Given the description of an element on the screen output the (x, y) to click on. 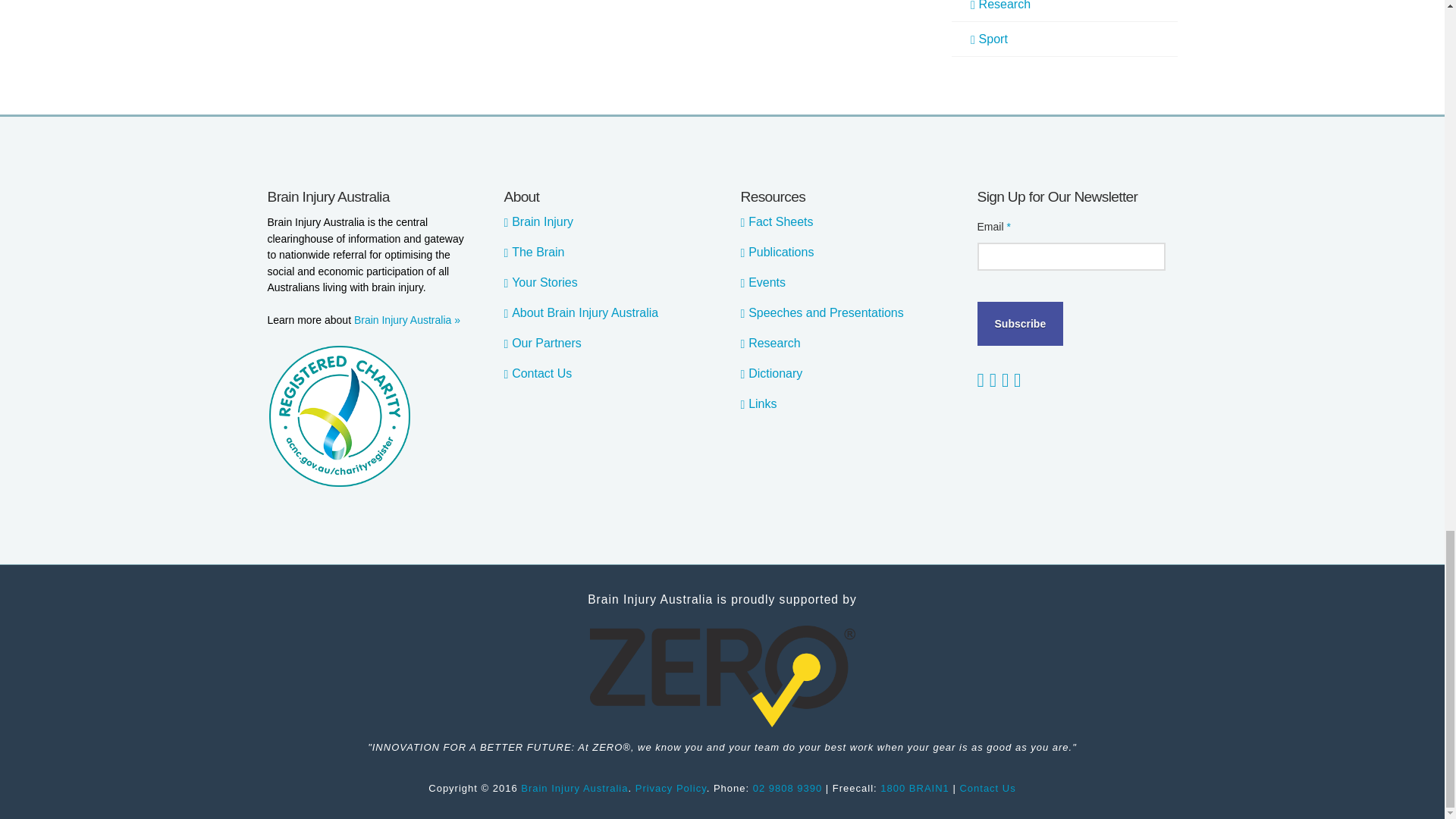
Brain Injury Australia website (574, 787)
Subscribe (1019, 323)
About Us (406, 319)
ACNC Registered Chatiry (338, 415)
Privacy Policy (670, 787)
